Given the description of an element on the screen output the (x, y) to click on. 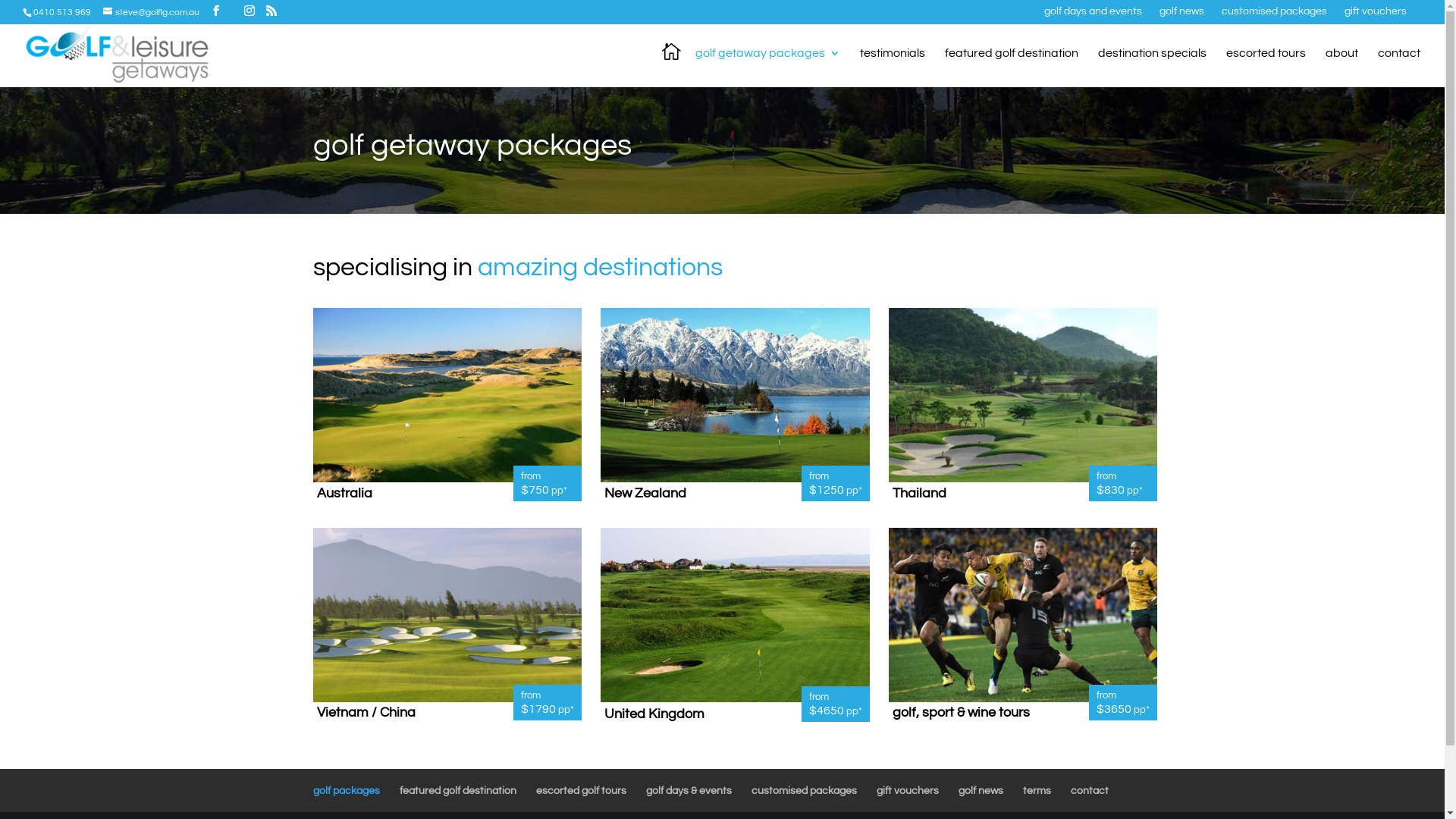
Vietnam / China Element type: text (365, 712)
customised packages Element type: text (803, 790)
golf days and events Element type: text (1093, 15)
gift vouchers Element type: text (1375, 15)
destination specials Element type: text (1152, 65)
golf getaway packages Element type: text (767, 65)
contact Element type: text (1089, 790)
Thailand Element type: text (919, 493)
contact Element type: text (1398, 65)
testimonials Element type: text (892, 65)
steve@golflg.com.au Element type: text (151, 12)
escorted tours Element type: text (1265, 65)
featured golf destination Element type: text (1011, 65)
United Kingdom Element type: text (654, 713)
gift vouchers Element type: text (907, 790)
home Element type: text (671, 69)
golf packages Element type: text (345, 790)
golf, sport & wine tours Element type: text (960, 712)
escorted golf tours Element type: text (580, 790)
terms Element type: text (1036, 790)
about Element type: text (1341, 65)
New Zealand Element type: text (645, 493)
golf news Element type: text (980, 790)
Australia Element type: text (344, 493)
golf days & events Element type: text (688, 790)
featured golf destination Element type: text (456, 790)
customised packages Element type: text (1274, 15)
golf news Element type: text (1181, 15)
